Given the description of an element on the screen output the (x, y) to click on. 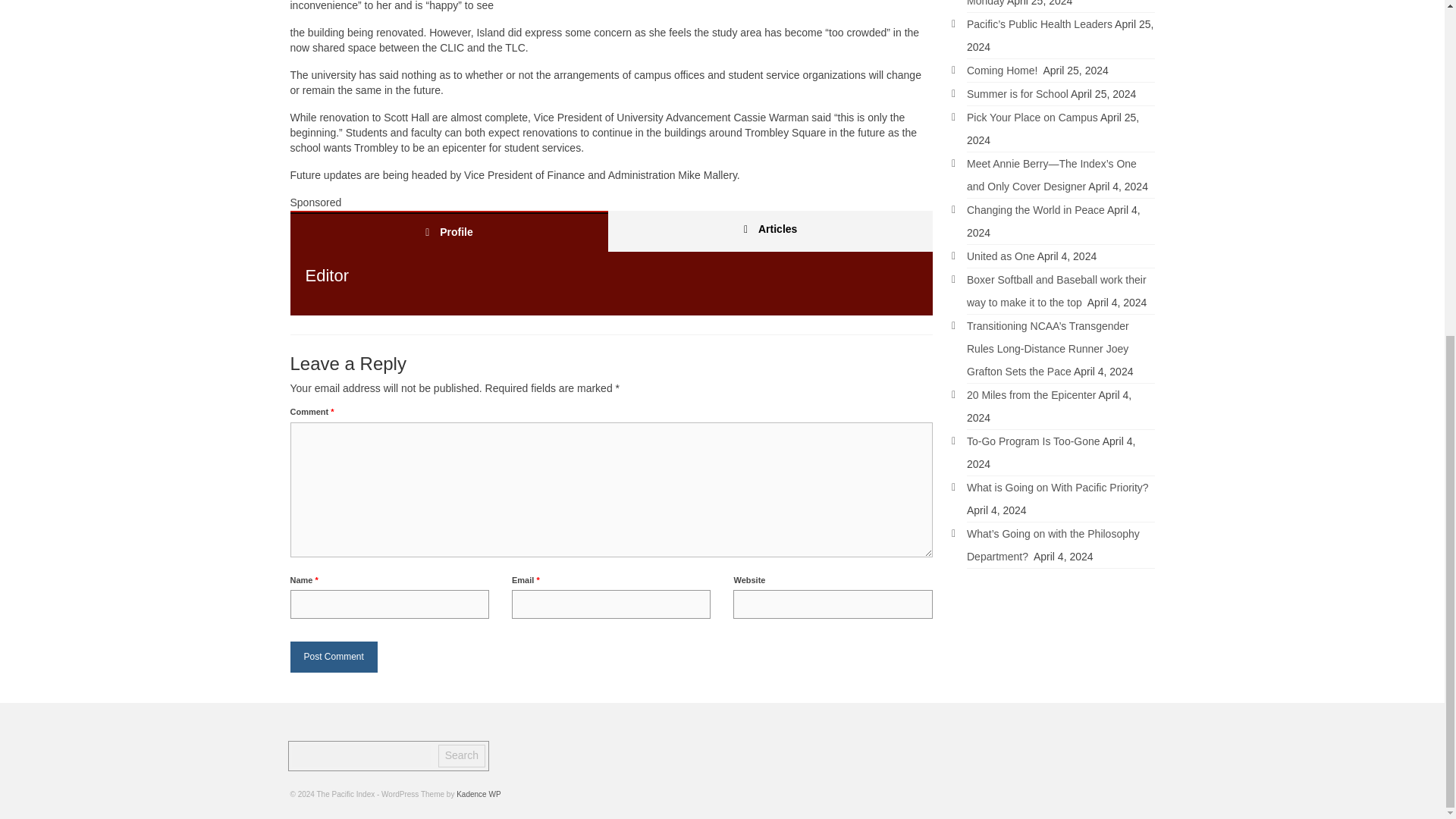
United as One (1000, 256)
Post Comment (333, 656)
Summer is for School (1017, 93)
Editor (325, 274)
Coming Home!  (1003, 70)
Changing the World in Peace (1035, 209)
Spreading Sexiness on Monochrome Monday (1053, 3)
Post Comment (333, 656)
Pick Your Place on Campus (1031, 117)
